Given the description of an element on the screen output the (x, y) to click on. 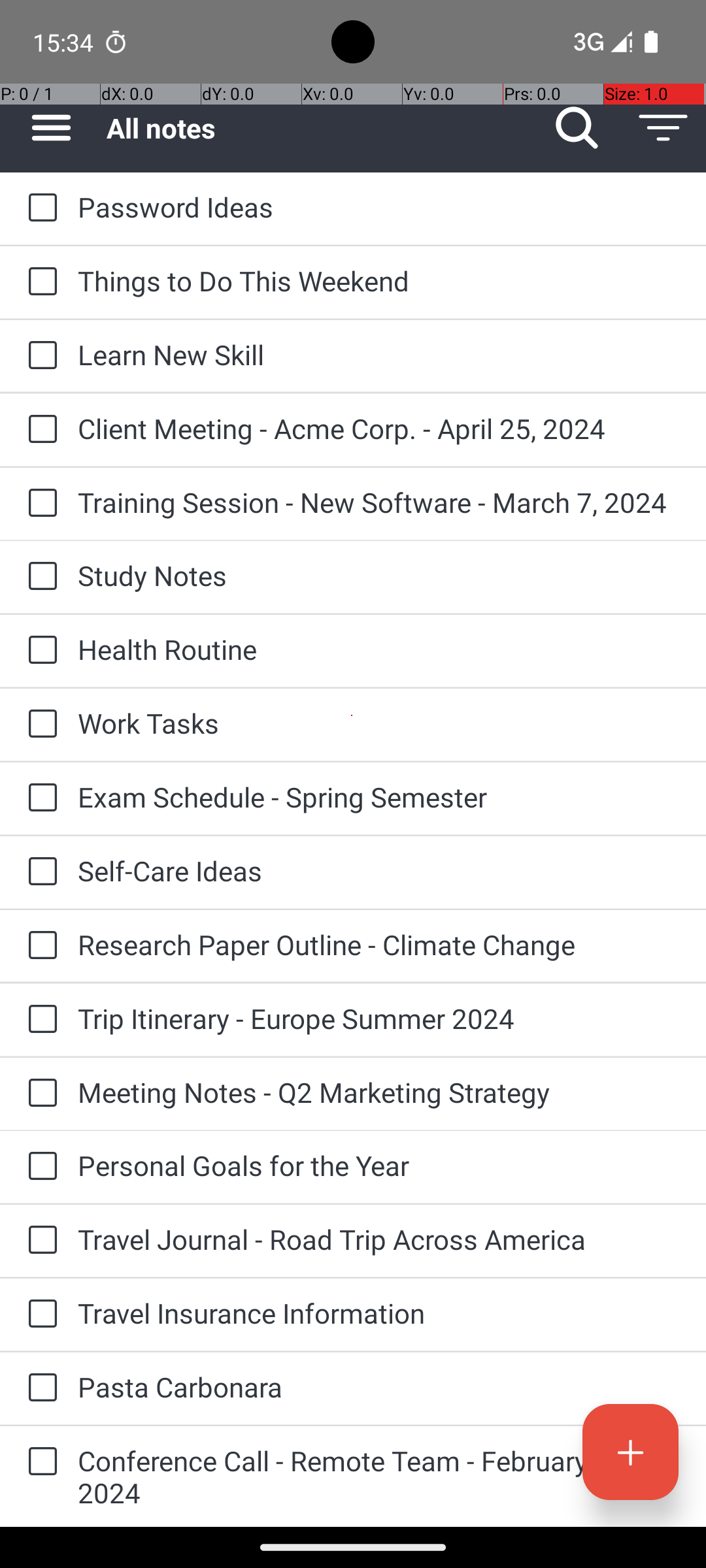
to-do: Password Ideas Element type: android.widget.CheckBox (38, 208)
Password Ideas Element type: android.widget.TextView (378, 206)
to-do: Things to Do This Weekend Element type: android.widget.CheckBox (38, 282)
Things to Do This Weekend Element type: android.widget.TextView (378, 280)
to-do: Learn New Skill Element type: android.widget.CheckBox (38, 356)
Learn New Skill Element type: android.widget.TextView (378, 354)
to-do: Training Session - New Software - March 7, 2024 Element type: android.widget.CheckBox (38, 503)
Training Session - New Software - March 7, 2024 Element type: android.widget.TextView (378, 501)
to-do: Study Notes Element type: android.widget.CheckBox (38, 576)
Study Notes Element type: android.widget.TextView (378, 574)
to-do: Work Tasks Element type: android.widget.CheckBox (38, 724)
Work Tasks Element type: android.widget.TextView (378, 722)
to-do: Exam Schedule - Spring Semester Element type: android.widget.CheckBox (38, 798)
Exam Schedule - Spring Semester Element type: android.widget.TextView (378, 796)
to-do: Self-Care Ideas Element type: android.widget.CheckBox (38, 872)
to-do: Meeting Notes - Q2 Marketing Strategy Element type: android.widget.CheckBox (38, 1093)
Meeting Notes - Q2 Marketing Strategy Element type: android.widget.TextView (378, 1091)
to-do: Personal Goals for the Year Element type: android.widget.CheckBox (38, 1166)
Personal Goals for the Year Element type: android.widget.TextView (378, 1164)
to-do: Travel Journal - Road Trip Across America Element type: android.widget.CheckBox (38, 1240)
to-do: Travel Insurance Information Element type: android.widget.CheckBox (38, 1314)
Travel Insurance Information Element type: android.widget.TextView (378, 1312)
to-do: Pasta Carbonara Element type: android.widget.CheckBox (38, 1388)
Pasta Carbonara Element type: android.widget.TextView (378, 1386)
to-do: Conference Call - Remote Team - February 28, 2024 Element type: android.widget.CheckBox (38, 1462)
Conference Call - Remote Team - February 28, 2024 Element type: android.widget.TextView (378, 1476)
